Given the description of an element on the screen output the (x, y) to click on. 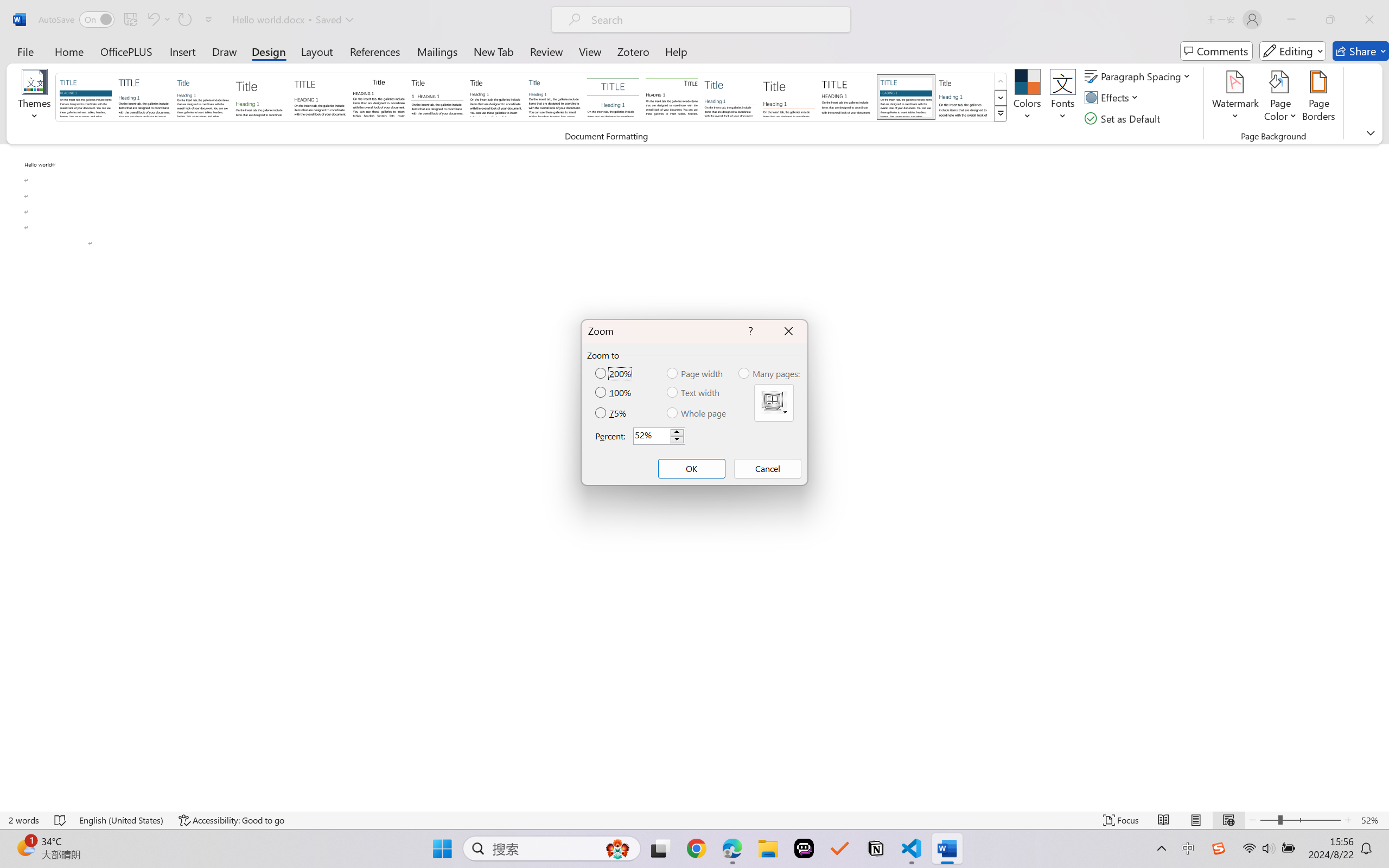
Read Mode (1163, 819)
Basic (Stylish) (260, 96)
Spelling and Grammar Check No Errors (60, 819)
Black & White (Capitalized) (320, 96)
AutoSave (76, 19)
Close (1369, 19)
RichEdit Control (651, 435)
New Tab (493, 51)
Accessibility Checker Accessibility: Good to go (231, 819)
Quick Access Toolbar (127, 19)
Share (1360, 51)
